Given the description of an element on the screen output the (x, y) to click on. 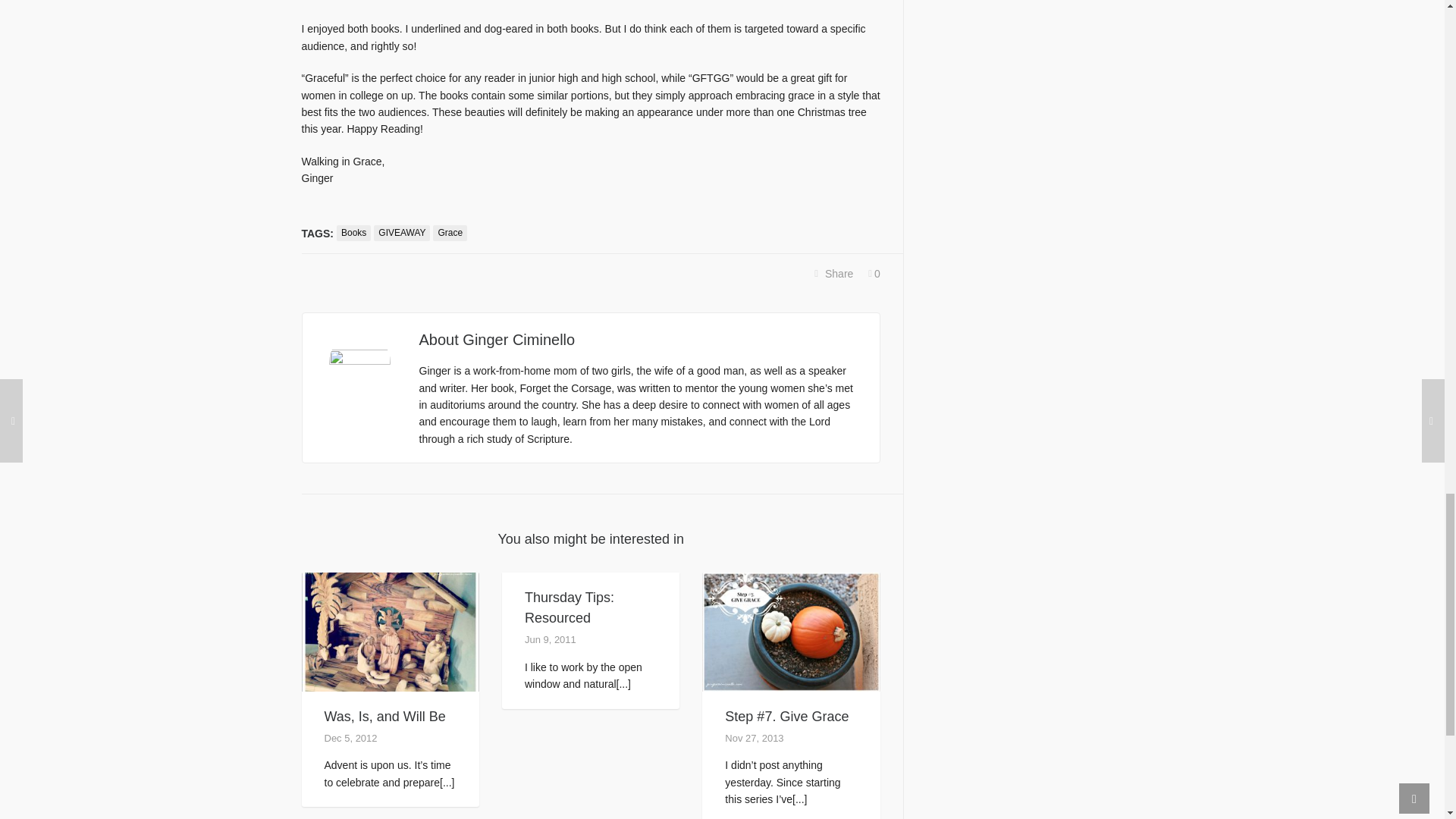
Grace (449, 232)
Books (353, 232)
GIVEAWAY (401, 232)
